Given the description of an element on the screen output the (x, y) to click on. 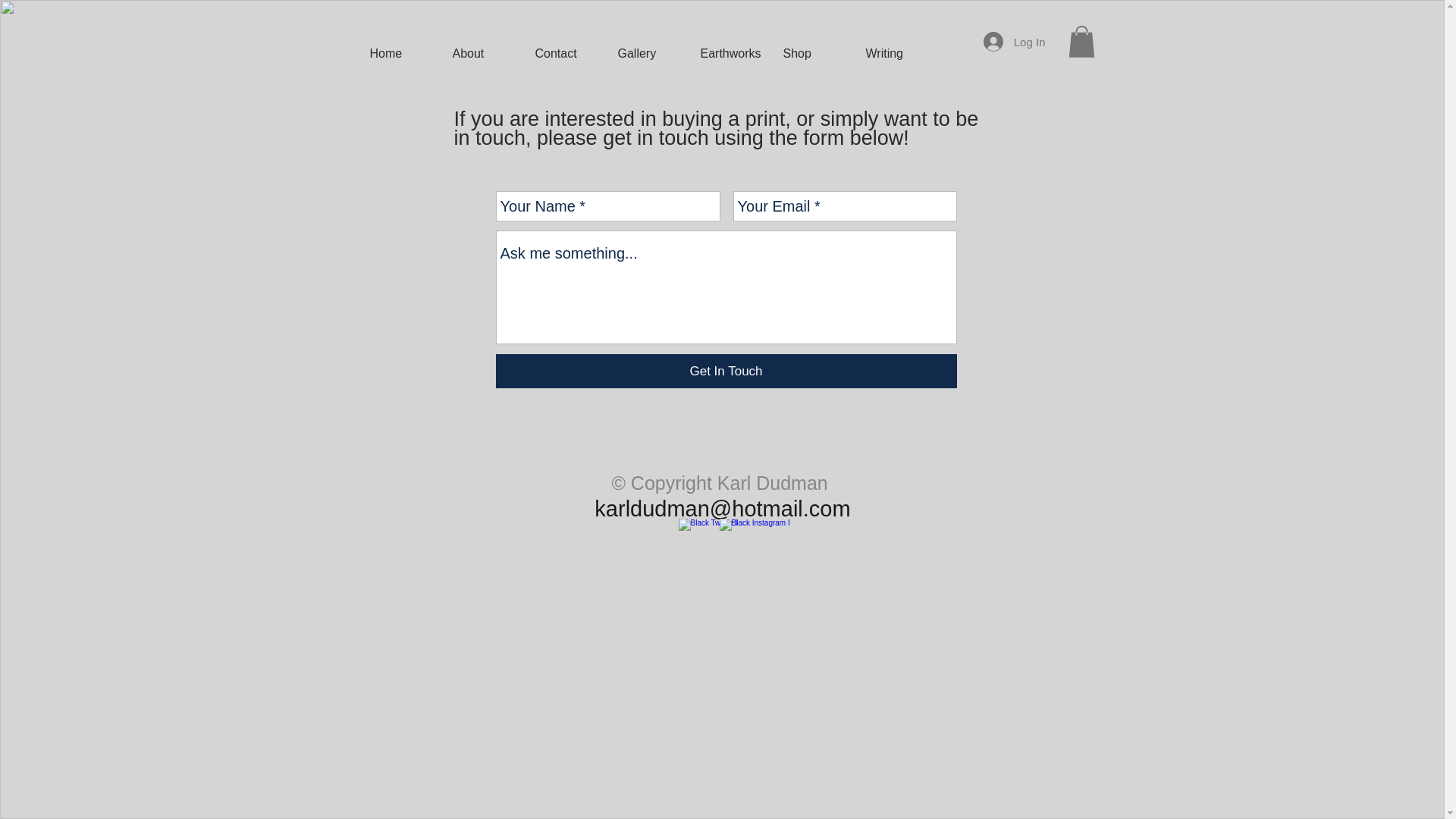
Log In (1014, 41)
Earthworks (729, 53)
About (482, 53)
Shop (812, 53)
Contact (563, 53)
Writing (894, 53)
Gallery (647, 53)
Get In Touch (726, 370)
Home (399, 53)
